Given the description of an element on the screen output the (x, y) to click on. 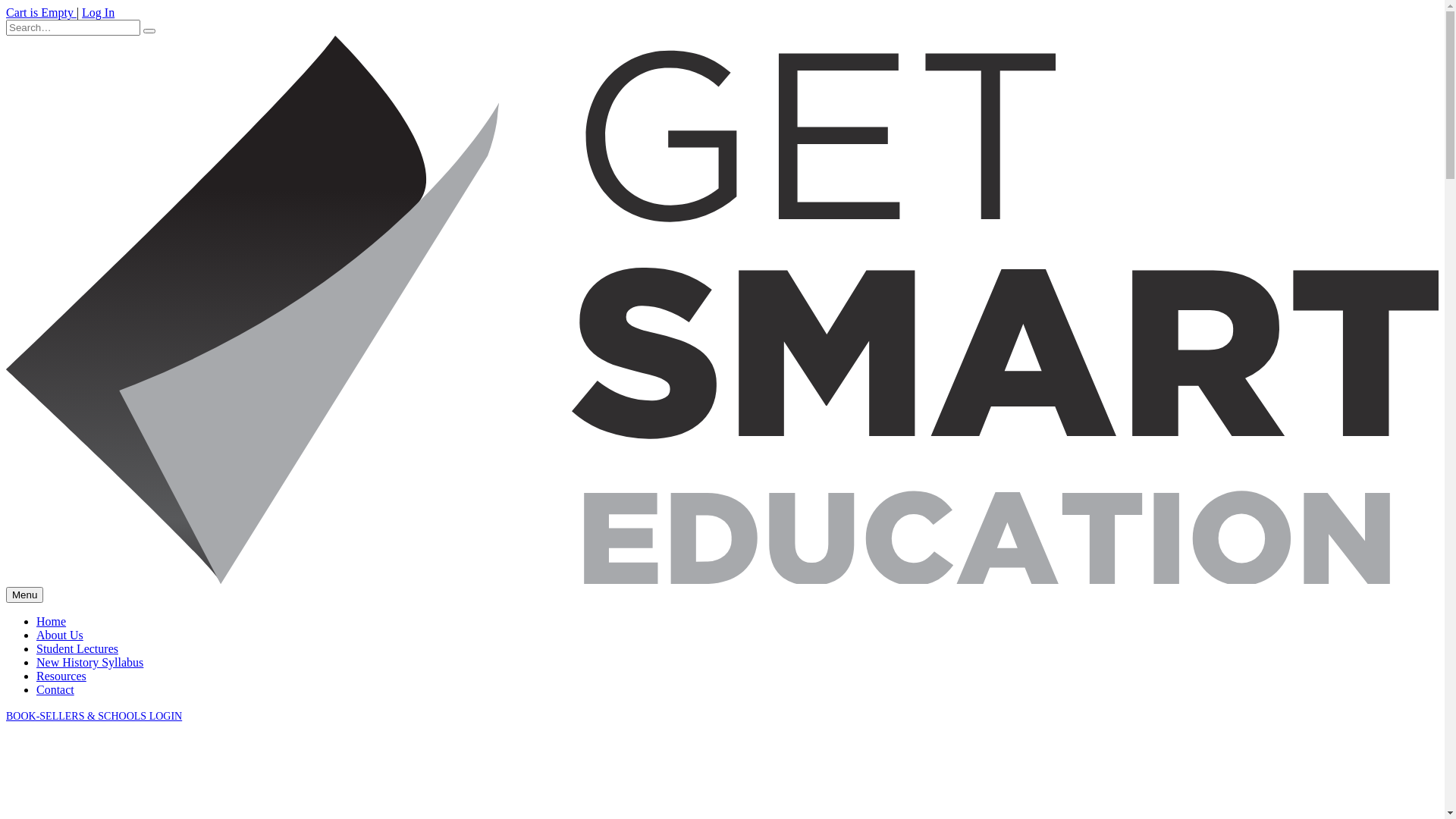
Return to homepage Element type: hover (722, 579)
Skip to main content Element type: text (5, 5)
BOOK-SELLERS & SCHOOLS LOGIN Element type: text (94, 715)
Student Lectures Element type: text (77, 648)
Cart is Empty Element type: text (41, 12)
Resources Element type: text (61, 675)
Search Element type: hover (149, 30)
New History Syllabus Element type: text (89, 661)
Menu Element type: text (24, 594)
Home Element type: text (50, 621)
About Us Element type: text (59, 634)
Contact Element type: text (55, 689)
Log In Element type: text (97, 12)
